Given the description of an element on the screen output the (x, y) to click on. 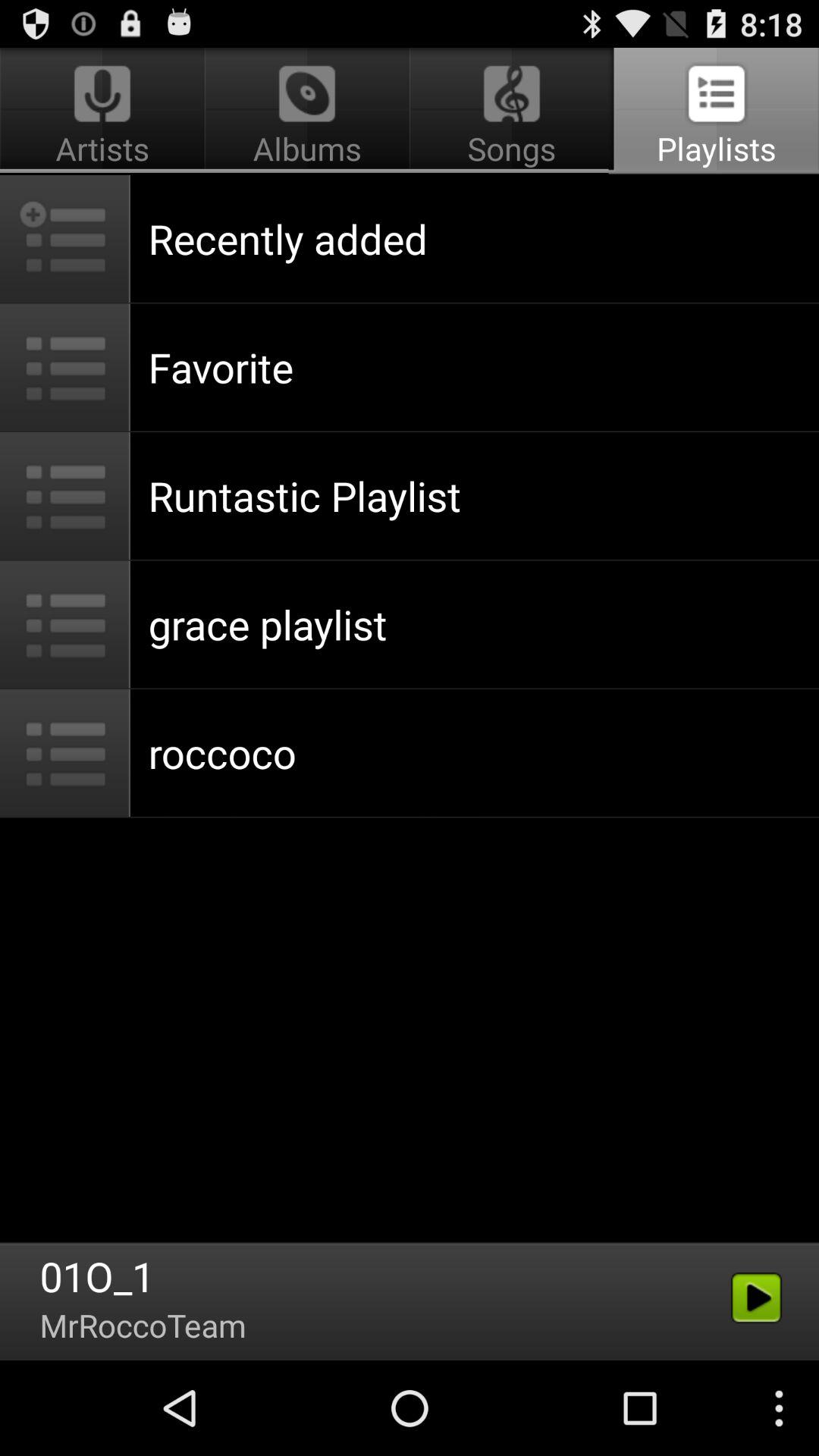
press the artists item (105, 111)
